Given the description of an element on the screen output the (x, y) to click on. 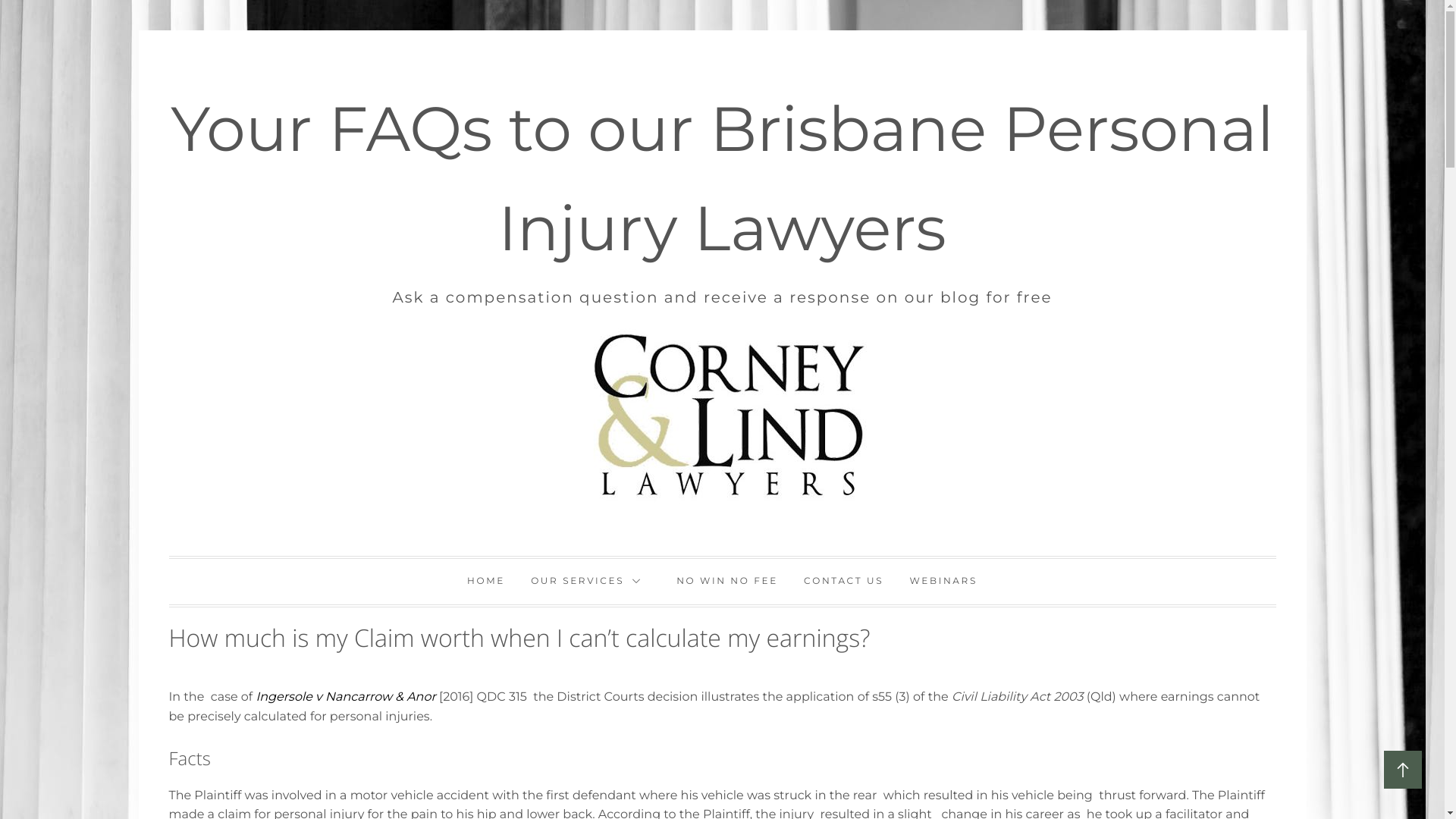
NO WIN NO FEE Element type: text (727, 581)
Ingersole v Nancarrow & Anor Element type: text (347, 697)
HOME Element type: text (485, 581)
CONTACT US Element type: text (843, 581)
WEBINARS Element type: text (942, 581)
OUR SERVICES Element type: text (590, 581)
Skip to content Element type: text (138, 30)
Your FAQs to our Brisbane Personal Injury Lawyers Element type: text (722, 178)
